Given the description of an element on the screen output the (x, y) to click on. 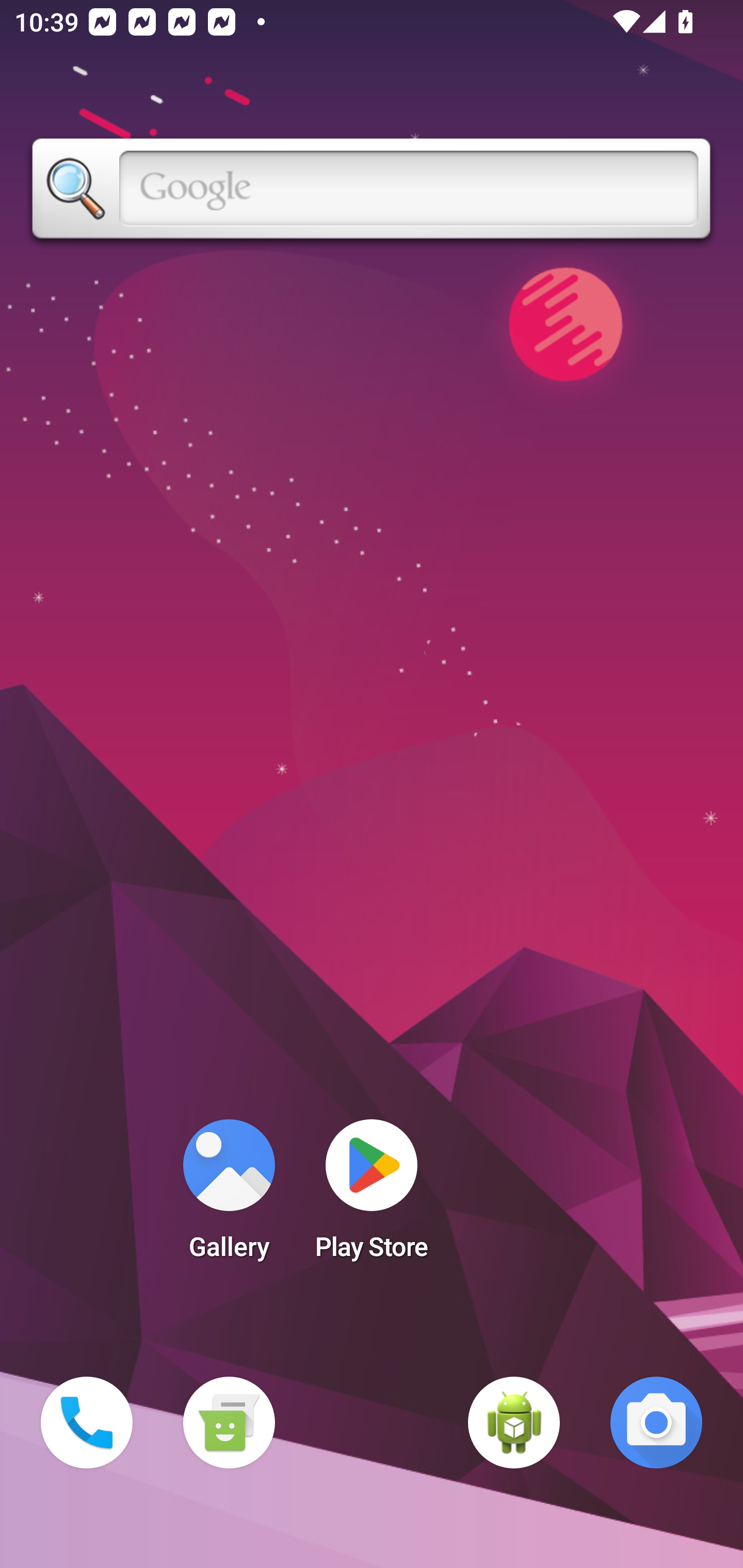
Gallery (228, 1195)
Play Store (371, 1195)
Phone (86, 1422)
Messaging (228, 1422)
WebView Browser Tester (513, 1422)
Camera (656, 1422)
